Given the description of an element on the screen output the (x, y) to click on. 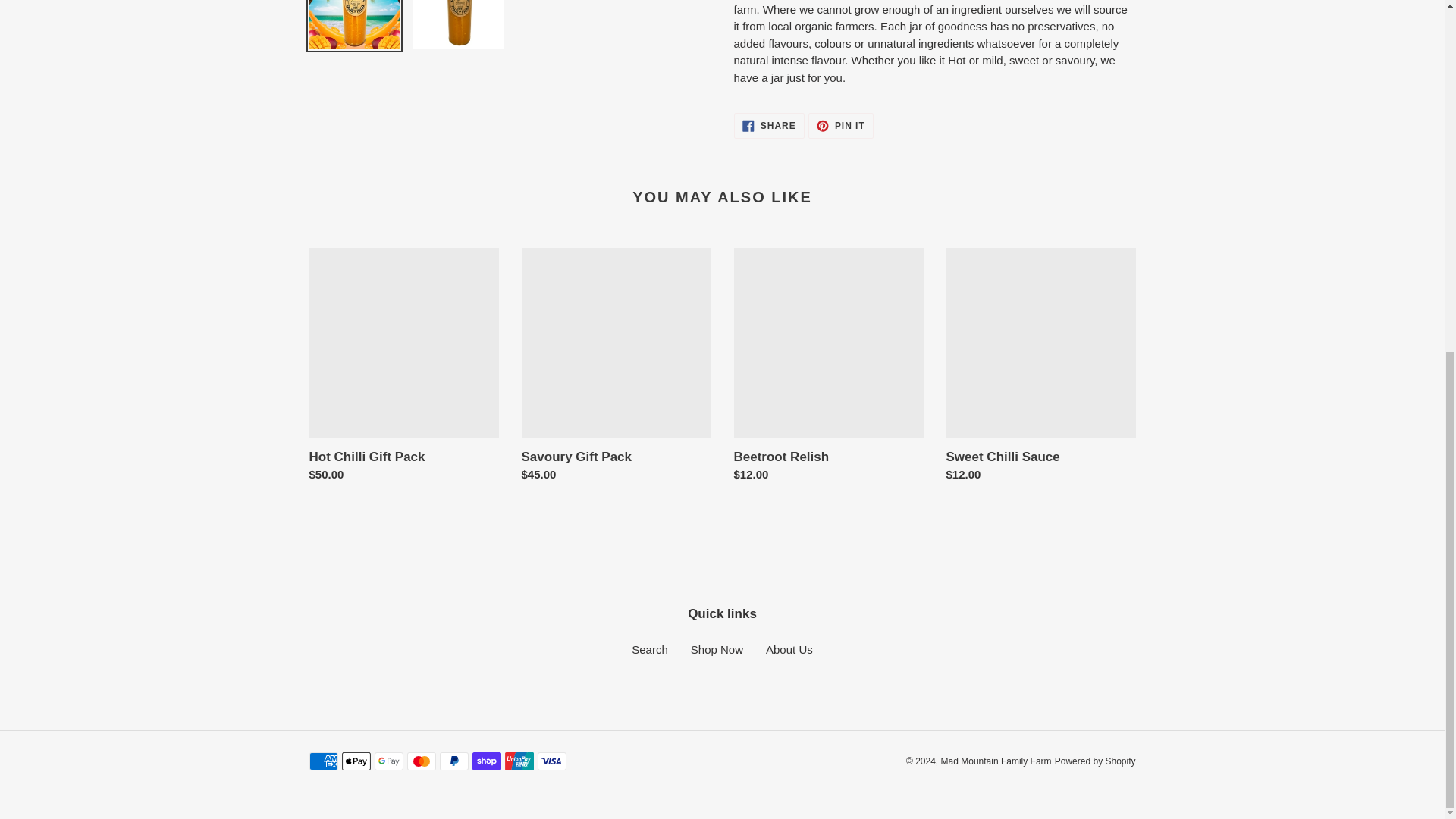
Search (769, 125)
Mad Mountain Family Farm (649, 649)
Shop Now (995, 760)
About Us (716, 649)
